Given the description of an element on the screen output the (x, y) to click on. 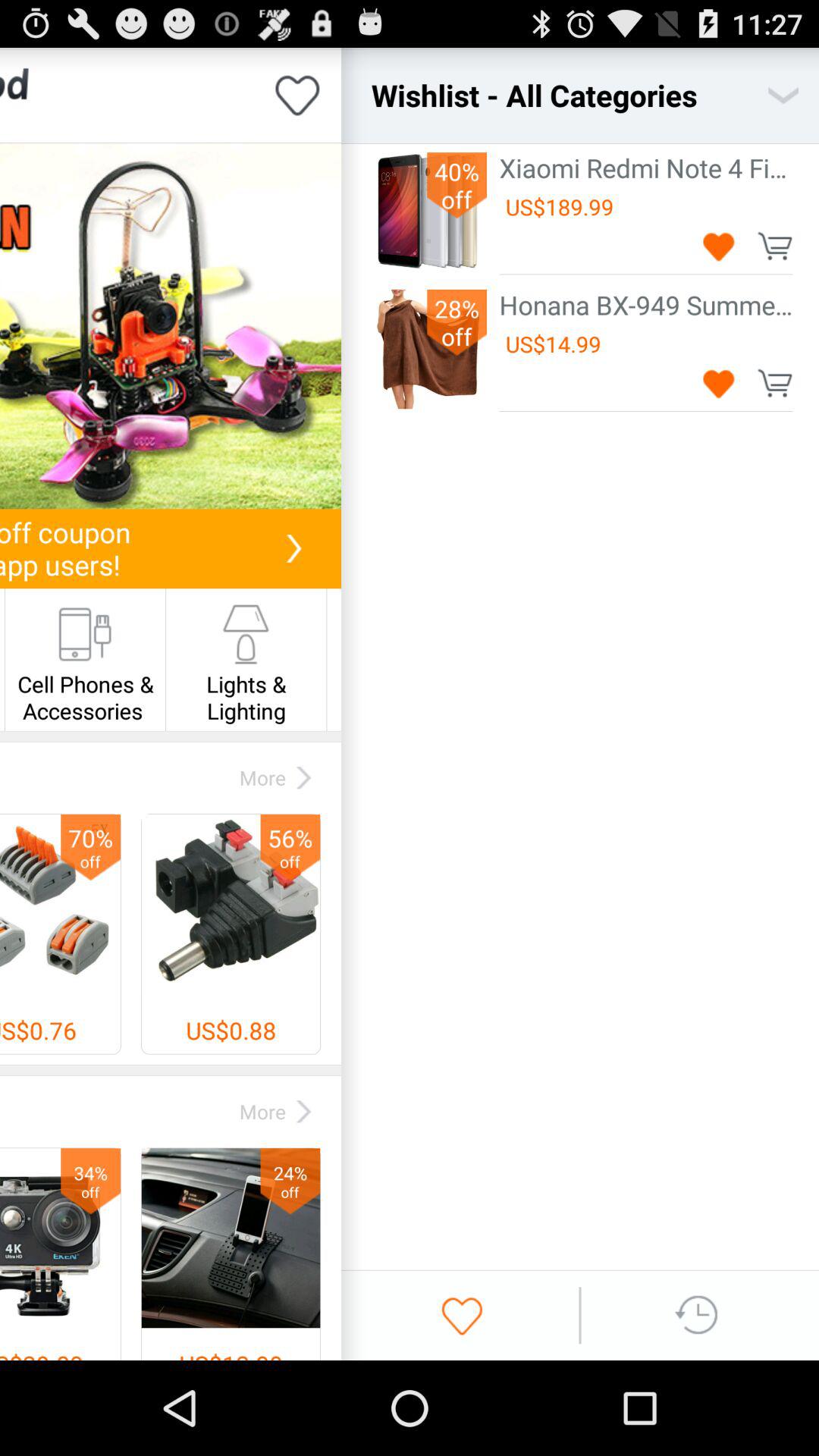
toggle categories (783, 95)
